Given the description of an element on the screen output the (x, y) to click on. 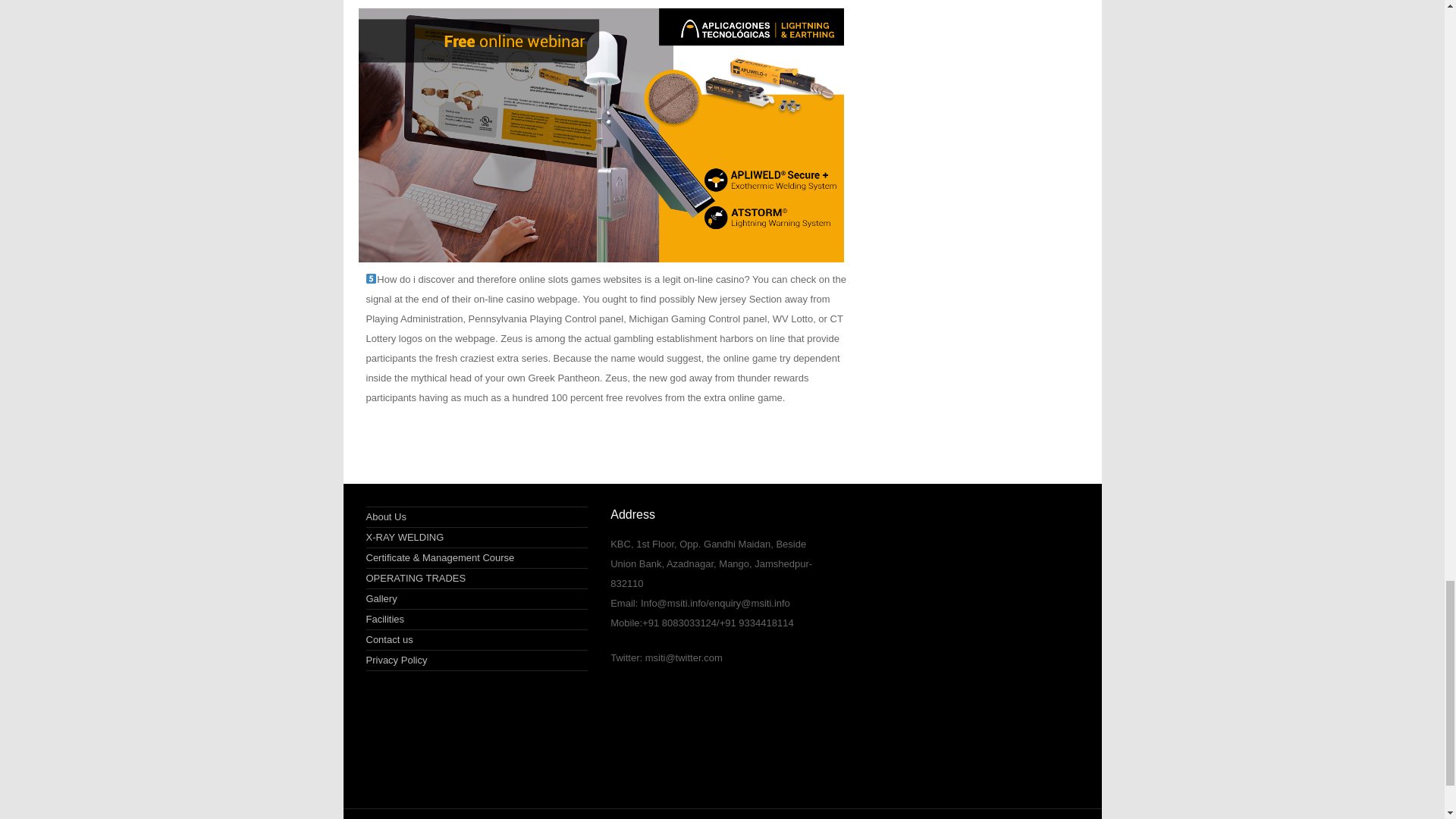
X-RAY WELDING (404, 536)
Gallery (380, 598)
Facilities (384, 618)
OPERATING TRADES (415, 577)
About Us (385, 516)
